Given the description of an element on the screen output the (x, y) to click on. 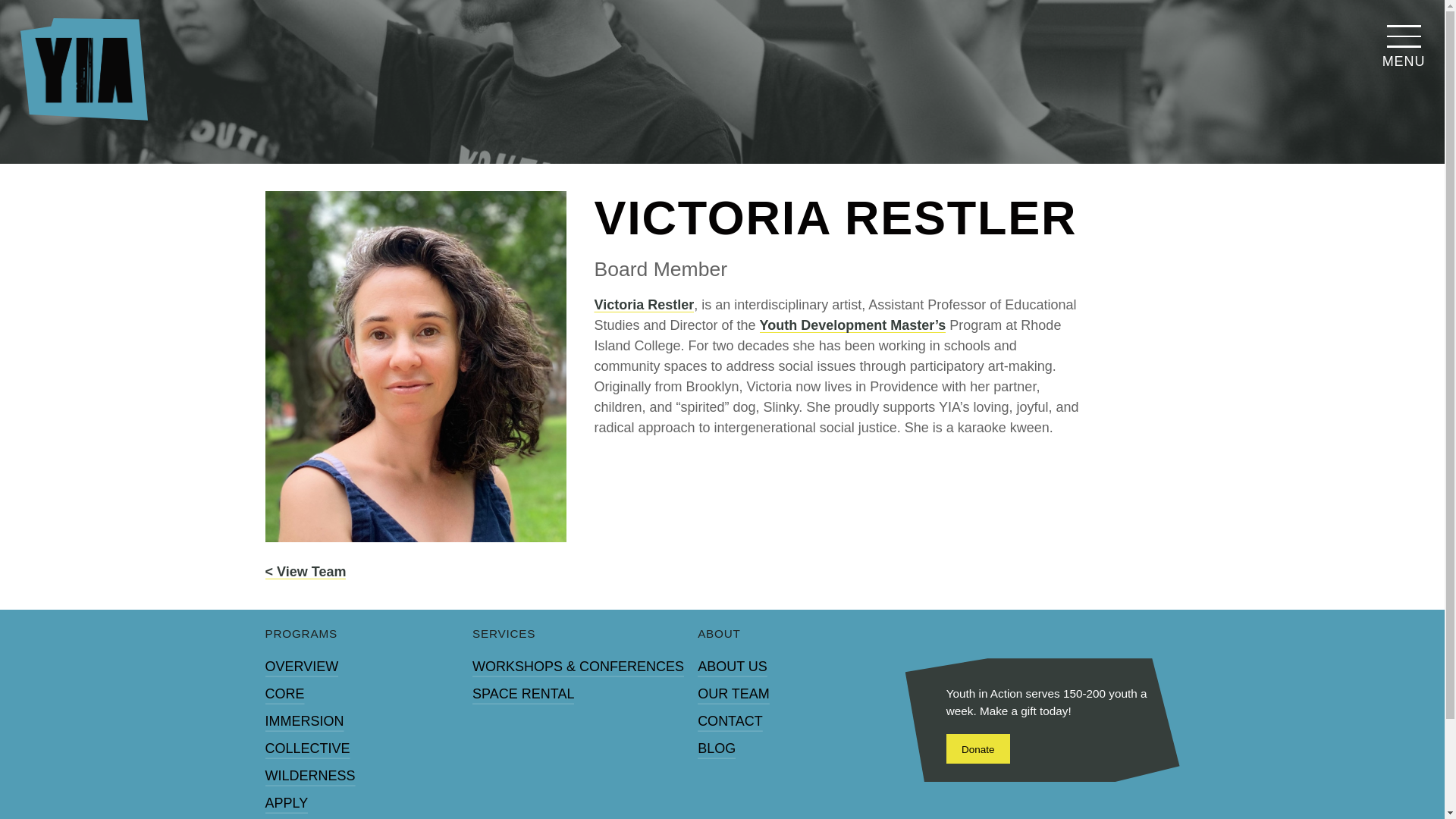
SERVICES (503, 633)
Victoria Restler (644, 306)
OVERVIEW (301, 666)
COLLECTIVE (307, 748)
SPACE RENTAL (522, 693)
ABOUT (719, 633)
APPLY (286, 802)
Menu (1403, 40)
IMMERSION (303, 720)
WILDERNESS (309, 775)
CORE (284, 693)
PROGRAMS (300, 633)
ABOUT US (732, 666)
